Given the description of an element on the screen output the (x, y) to click on. 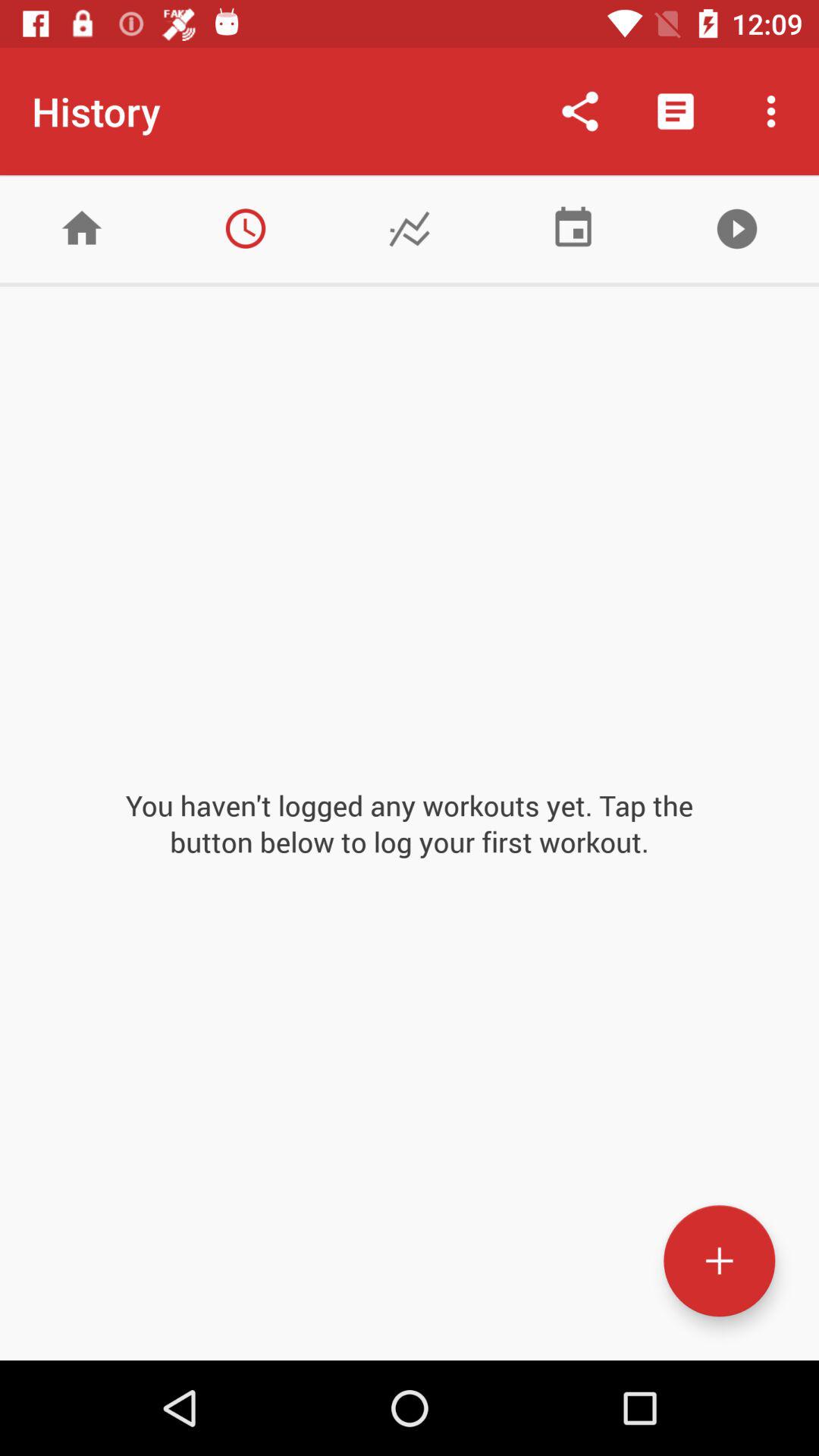
this label was calender (573, 228)
